Given the description of an element on the screen output the (x, y) to click on. 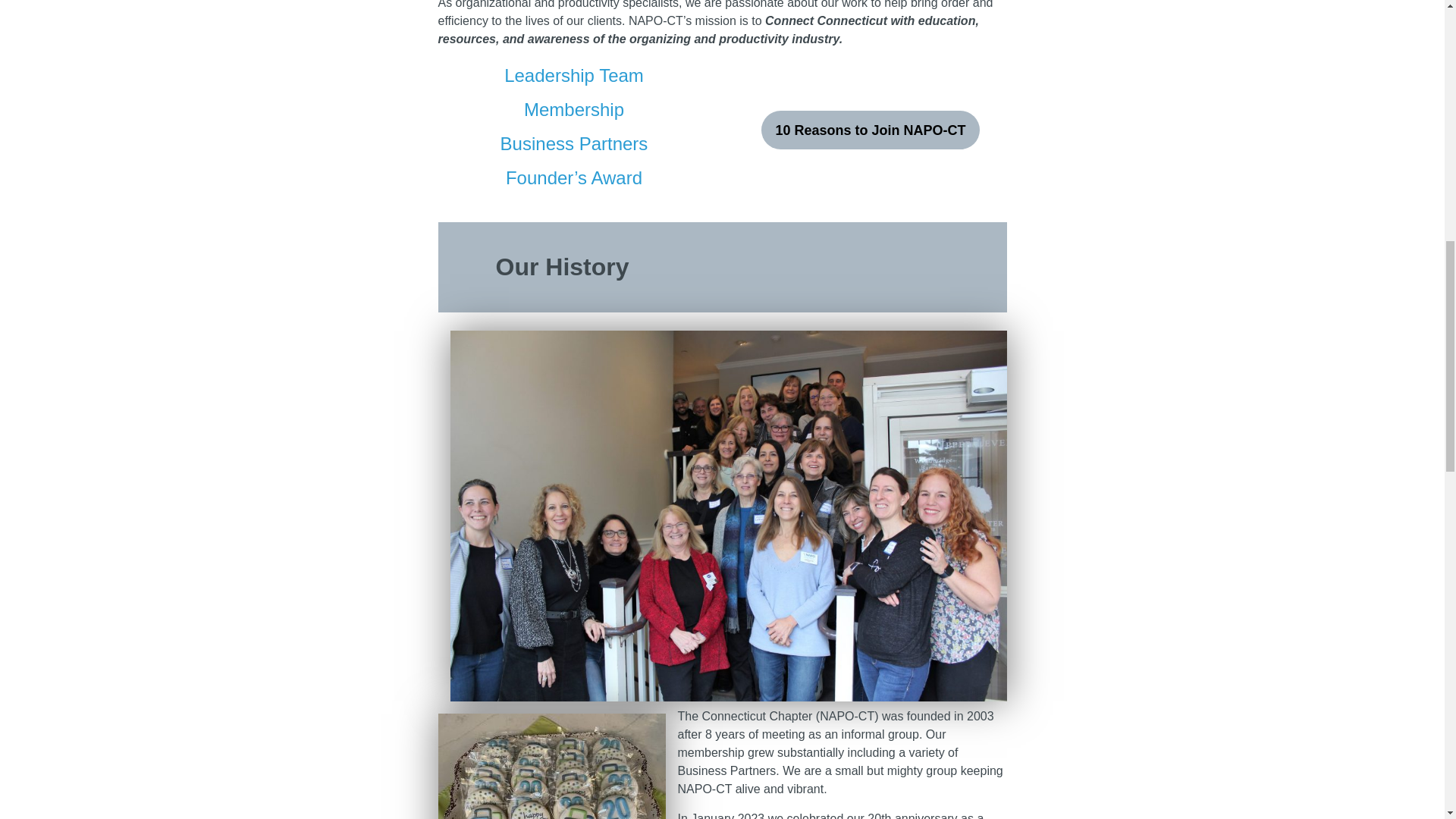
Membership (574, 109)
Business Partners (573, 143)
Leadership Team (573, 75)
10 Reasons to Join NAPO-CT (869, 129)
